Given the description of an element on the screen output the (x, y) to click on. 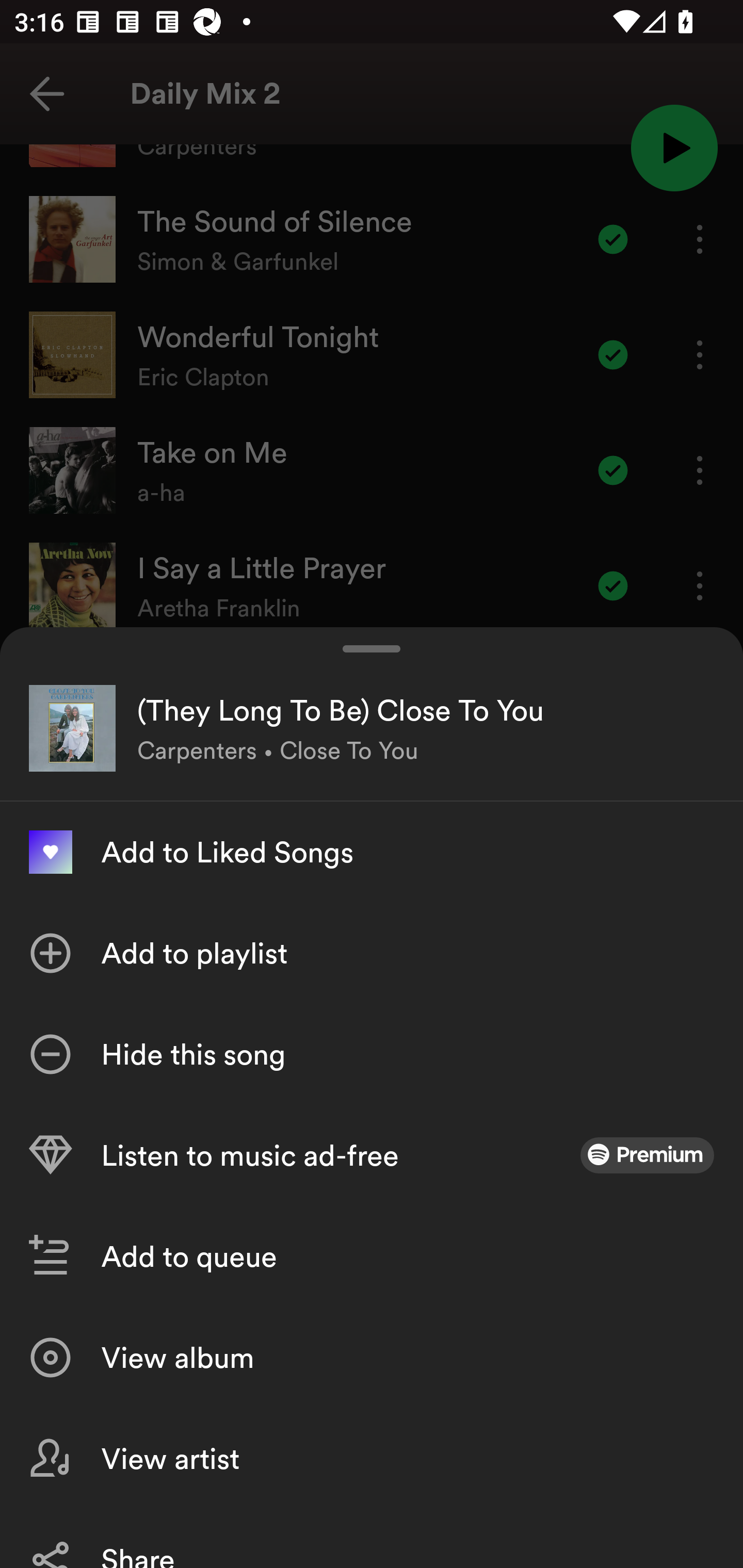
Add to Liked Songs (371, 852)
Add to playlist (371, 953)
Hide this song (371, 1054)
Listen to music ad-free (371, 1155)
Add to queue (371, 1256)
View album (371, 1357)
View artist (371, 1458)
Share (371, 1538)
